Given the description of an element on the screen output the (x, y) to click on. 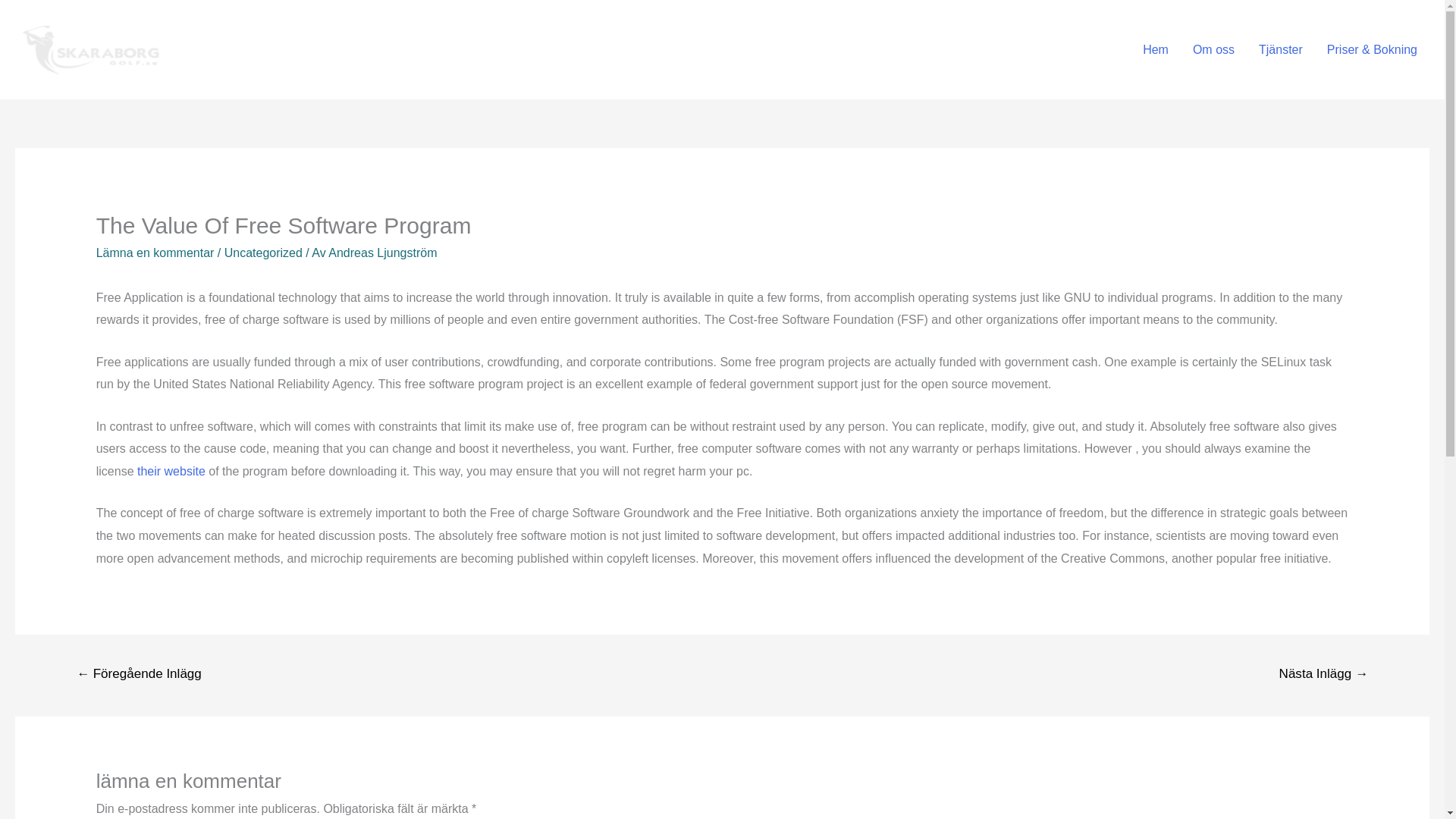
Hem (1155, 49)
their website (170, 471)
Uncategorized (263, 252)
Om oss (1213, 49)
